Given the description of an element on the screen output the (x, y) to click on. 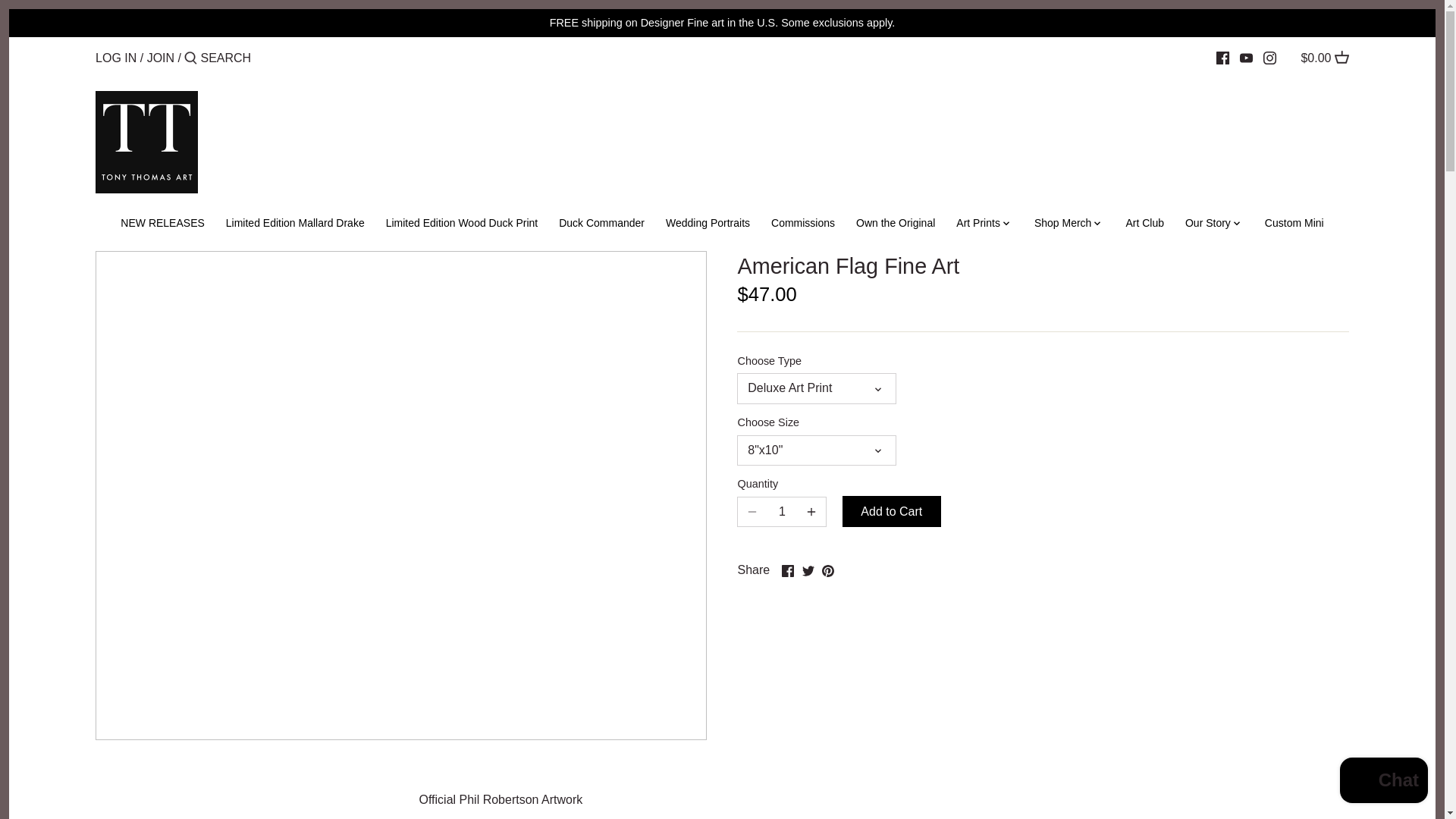
LOG IN (116, 57)
INSTAGRAM (1269, 57)
Facebook (787, 571)
Shopify online store chat (1383, 781)
Limited Edition Mallard Drake (295, 225)
Limited Edition Wood Duck Print (461, 225)
Duck Commander (601, 225)
Pinterest (828, 571)
JOIN (160, 57)
